Given the description of an element on the screen output the (x, y) to click on. 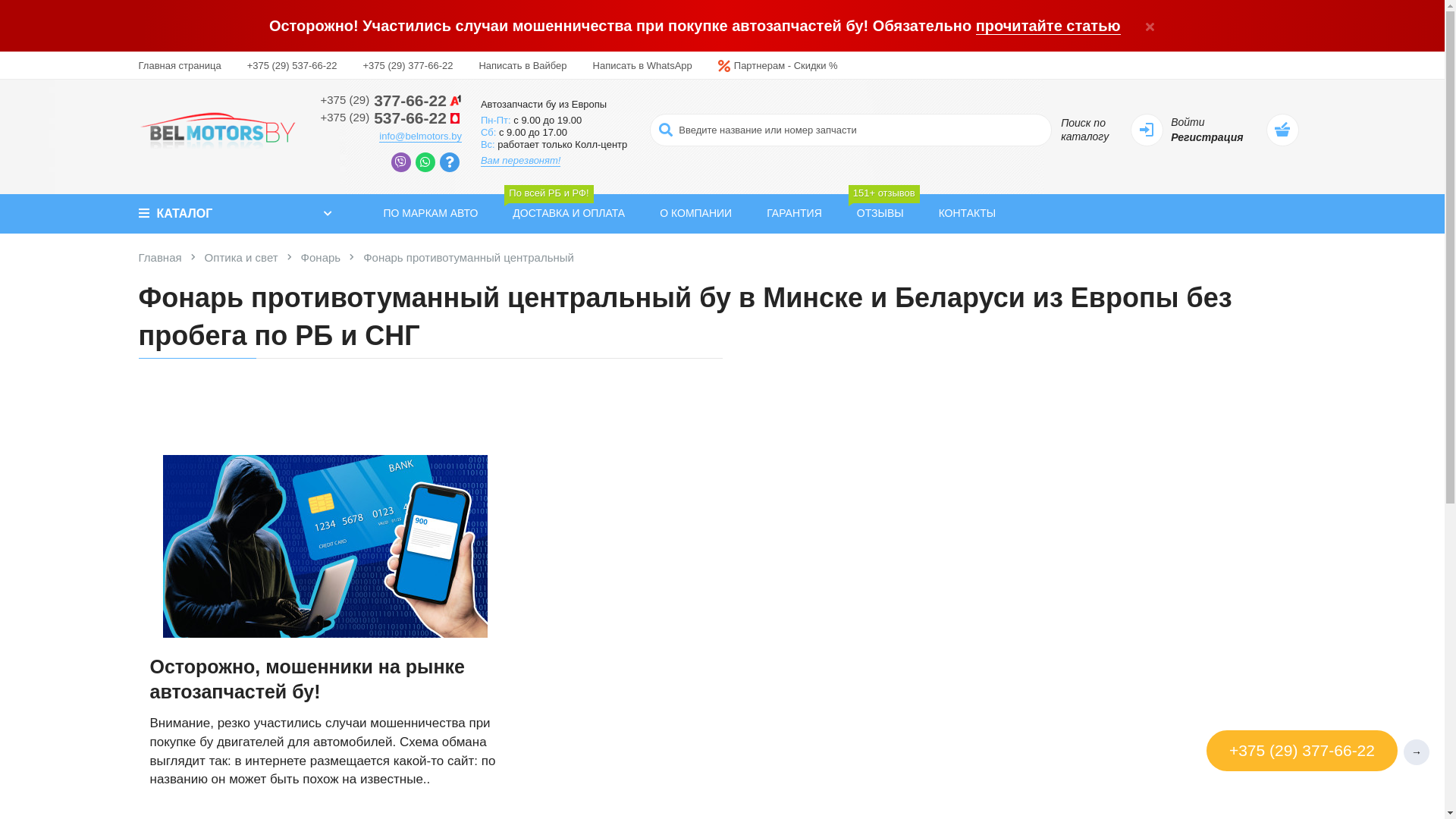
+375 (29) 377-66-22 Element type: text (1301, 751)
+375 (29)
537-66-22 Element type: text (390, 117)
+375 (29)
377-66-22 Element type: text (390, 100)
info@belmotors.by Element type: text (420, 136)
+375 (29) 377-66-22 Element type: text (408, 65)
+375 (29) 537-66-22 Element type: text (292, 65)
